Given the description of an element on the screen output the (x, y) to click on. 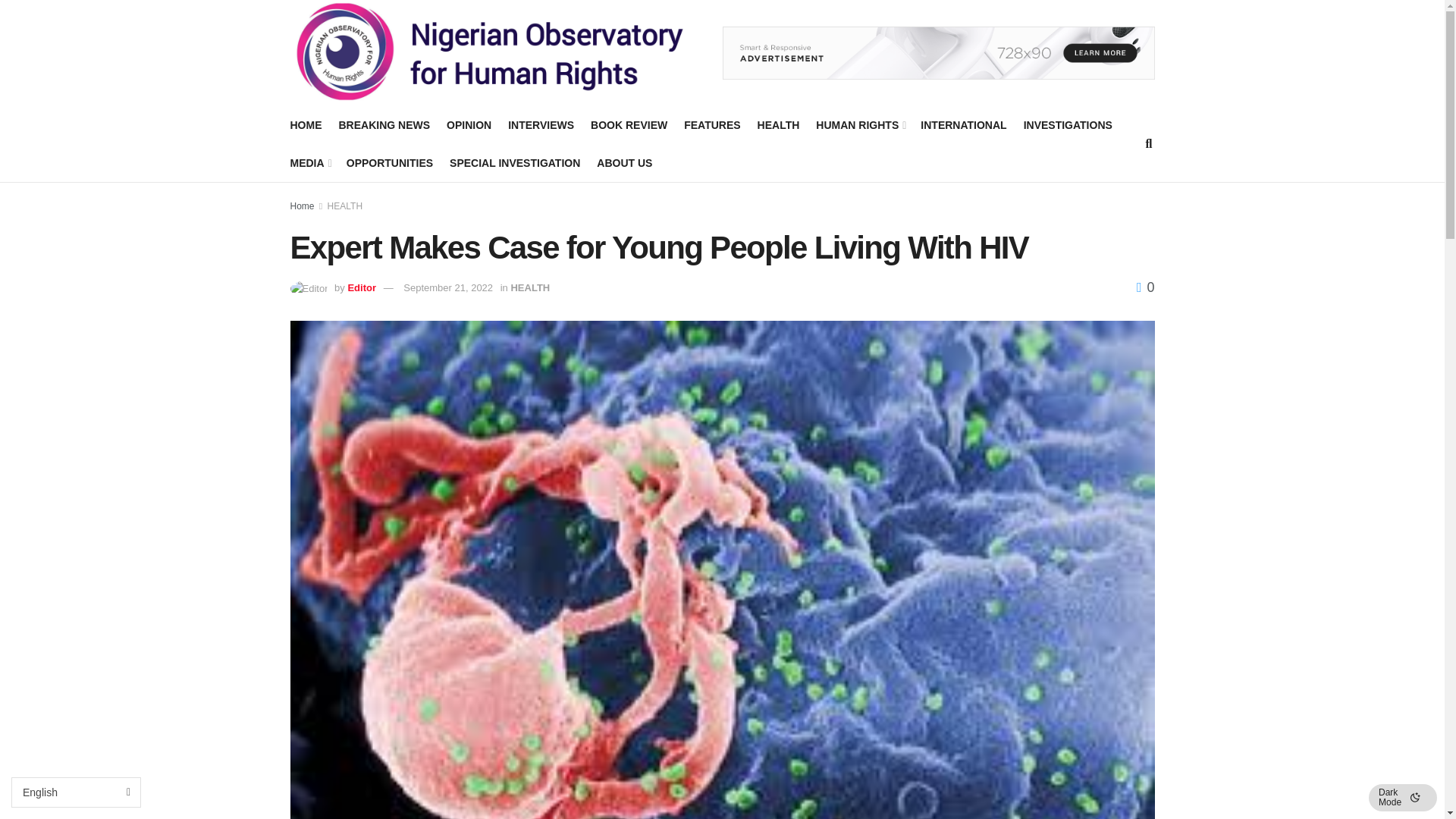
OPINION (469, 124)
HEALTH (778, 124)
ABOUT US (624, 162)
SPECIAL INVESTIGATION (514, 162)
OPPORTUNITIES (389, 162)
FEATURES (711, 124)
BOOK REVIEW (628, 124)
INVESTIGATIONS (1067, 124)
BREAKING NEWS (383, 124)
HOME (305, 124)
HUMAN RIGHTS (859, 124)
MEDIA (309, 162)
INTERNATIONAL (963, 124)
INTERVIEWS (540, 124)
